Given the description of an element on the screen output the (x, y) to click on. 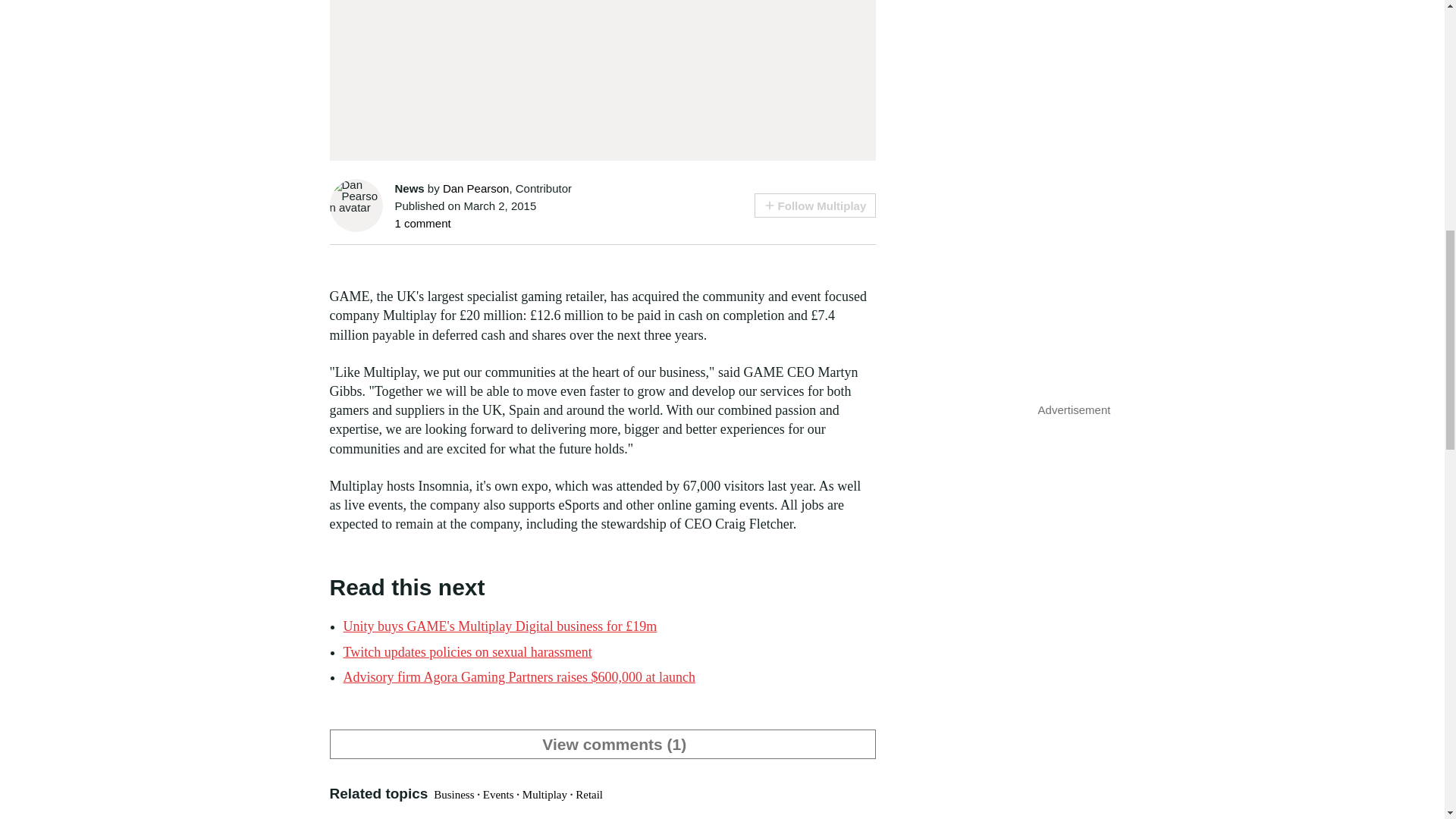
Dan Pearson (475, 187)
Retail (588, 794)
Events (498, 794)
Business (453, 794)
Follow Multiplay (814, 205)
Multiplay (544, 794)
1 comment (421, 223)
Twitch updates policies on sexual harassment (466, 652)
Follow Multiplay (814, 205)
